Given the description of an element on the screen output the (x, y) to click on. 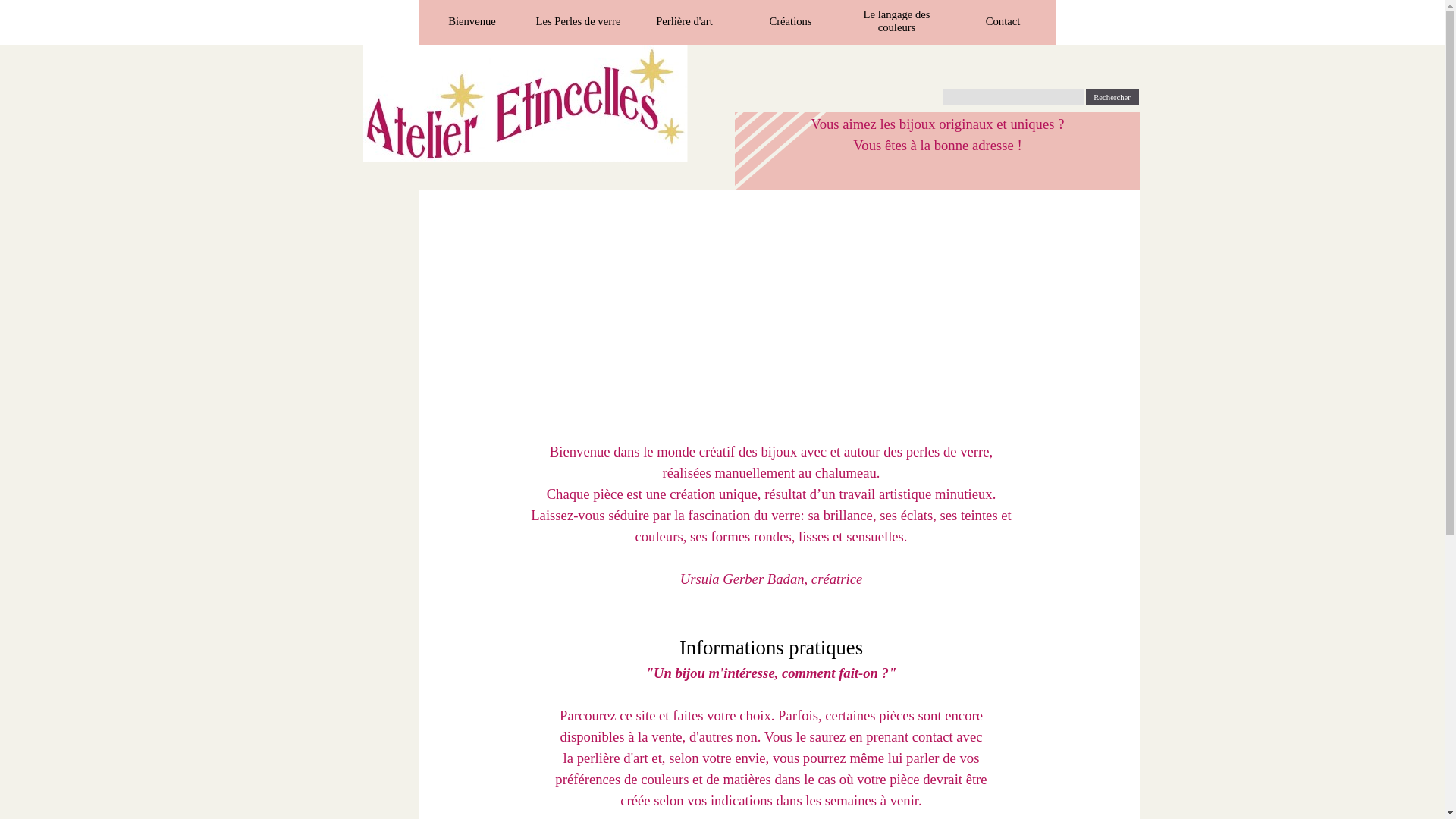
Rechercher Element type: text (1112, 97)
